Given the description of an element on the screen output the (x, y) to click on. 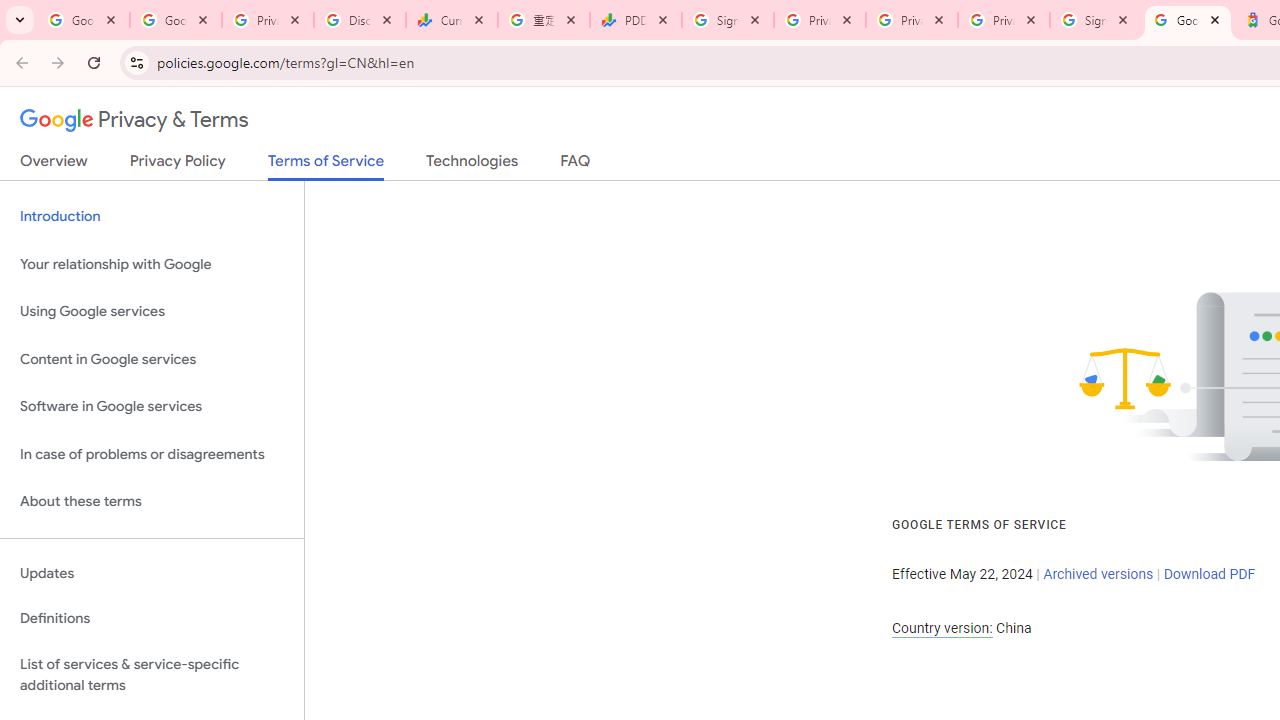
Software in Google services (152, 407)
Your relationship with Google (152, 263)
Content in Google services (152, 358)
PDD Holdings Inc - ADR (PDD) Price & News - Google Finance (636, 20)
Privacy Checkup (1003, 20)
List of services & service-specific additional terms (152, 674)
Country version: (942, 628)
Google Workspace Admin Community (83, 20)
